Given the description of an element on the screen output the (x, y) to click on. 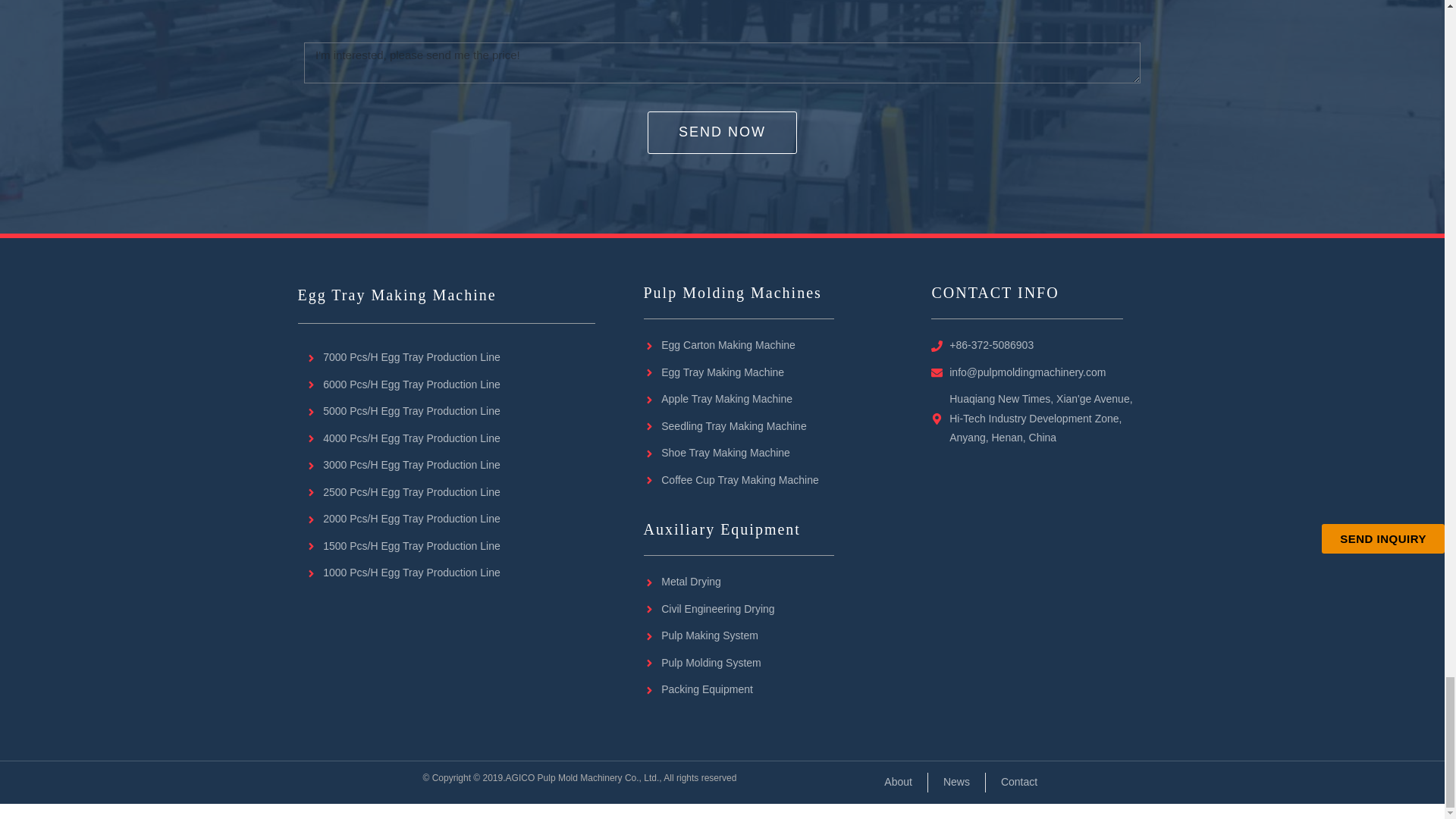
Send Now (721, 132)
